Given the description of an element on the screen output the (x, y) to click on. 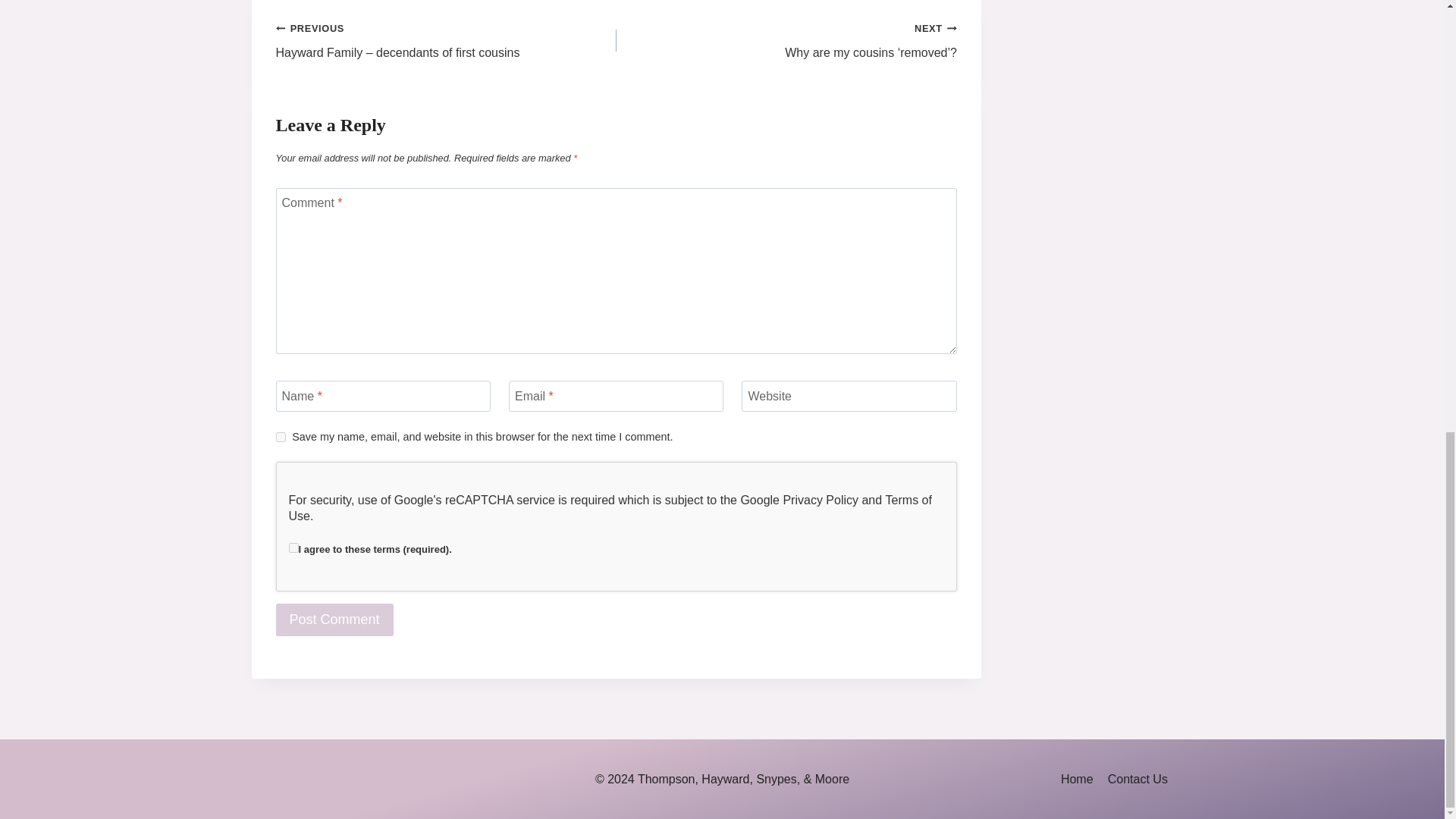
on (293, 547)
Post Comment (334, 619)
Home (1076, 779)
yes (280, 437)
Privacy Policy (821, 499)
Contact Us (1137, 779)
Post Comment (334, 619)
Terms of Use (609, 507)
